Given the description of an element on the screen output the (x, y) to click on. 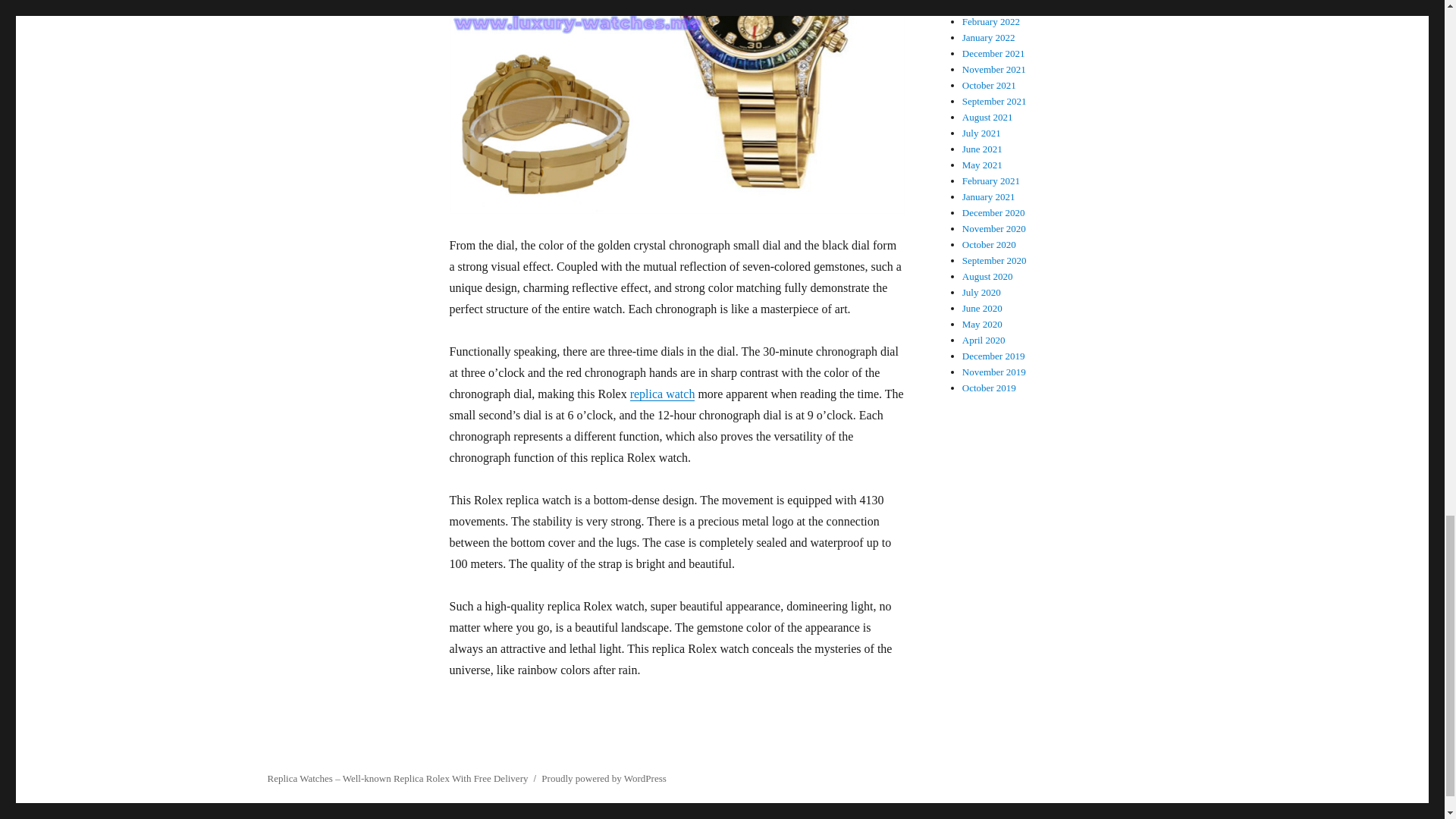
replica watch (662, 393)
